Given the description of an element on the screen output the (x, y) to click on. 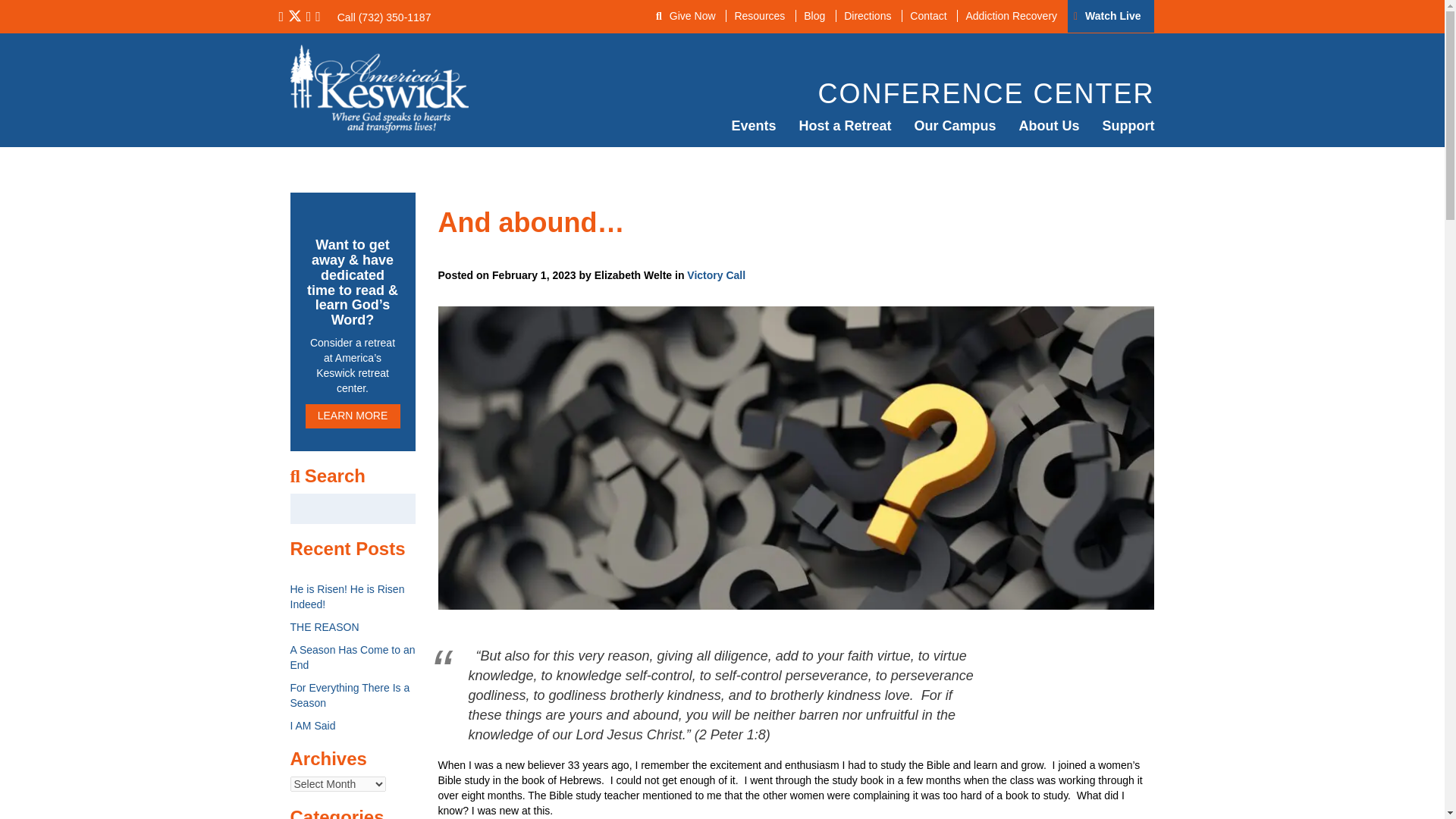
Give Now (692, 15)
Christian Events in NJ (753, 125)
Christian Retreat Center (844, 125)
Watch Live (1112, 15)
Contact (927, 15)
Host a Retreat (844, 125)
Blog (813, 15)
Resources (758, 15)
Addiction Recovery (1010, 15)
Events (753, 125)
